Given the description of an element on the screen output the (x, y) to click on. 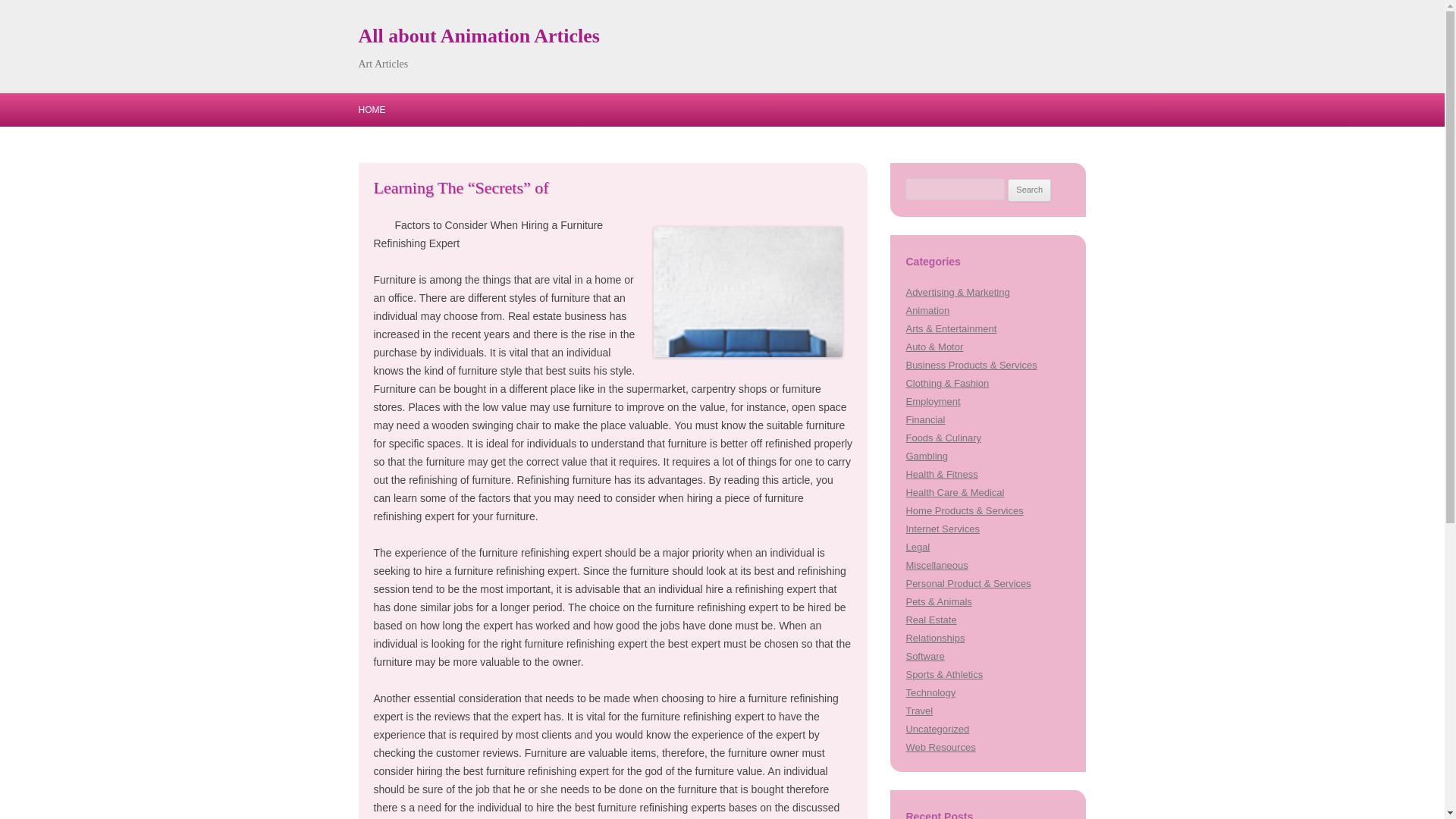
Miscellaneous (936, 564)
Search (1029, 190)
All about Animation Articles (478, 36)
Real Estate (930, 619)
Employment (932, 401)
Relationships (934, 637)
Animation (927, 310)
Internet Services (941, 528)
Travel (919, 710)
